Given the description of an element on the screen output the (x, y) to click on. 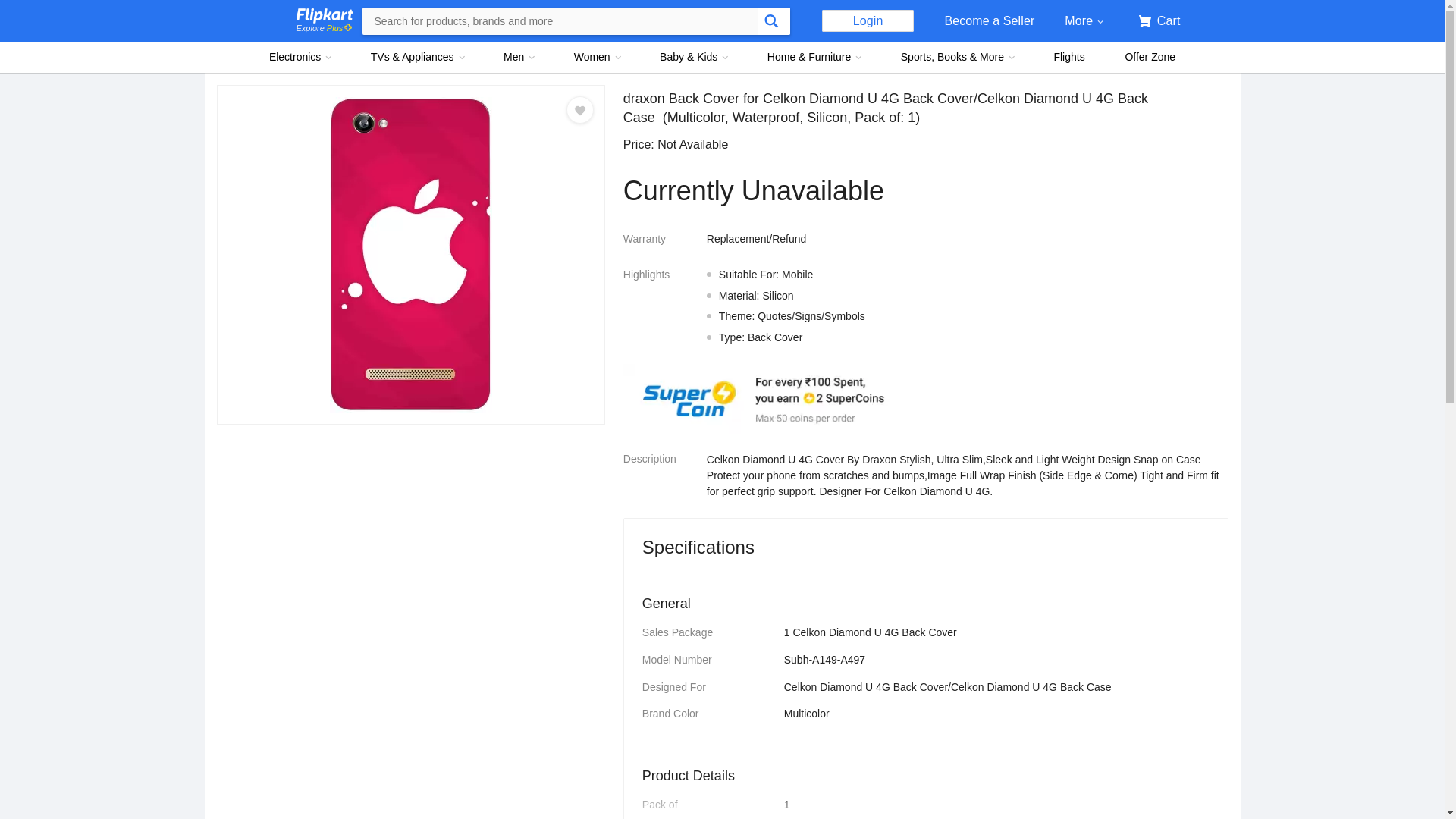
Offer Zone (1150, 57)
Explore Plus (323, 28)
Flipkart (323, 15)
Become a Seller (988, 21)
Cart (1156, 21)
Flights (1069, 57)
Login (868, 20)
Search for products, brands and more (560, 21)
